Given the description of an element on the screen output the (x, y) to click on. 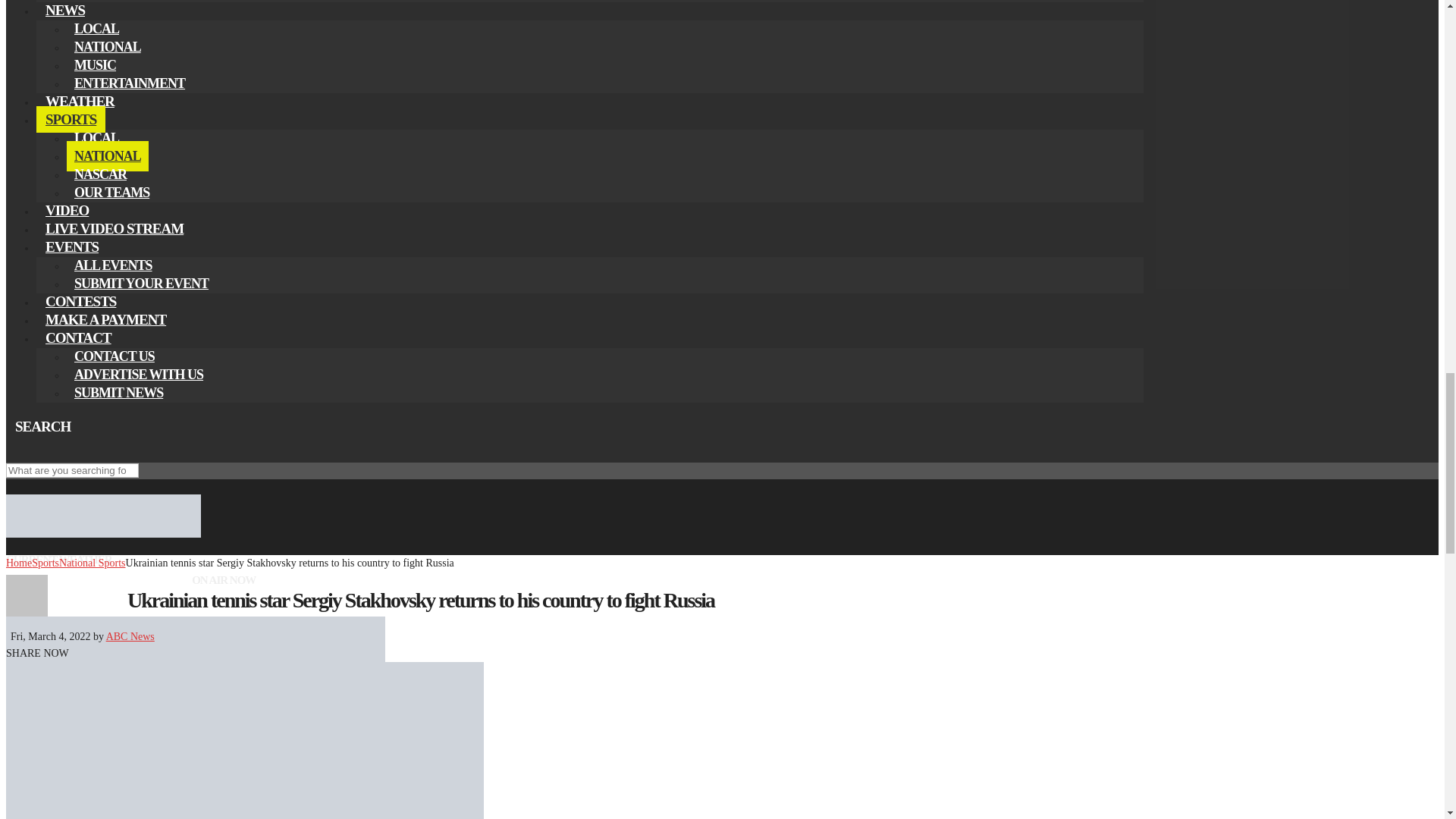
Follow us on Facebook (14, 447)
